Given the description of an element on the screen output the (x, y) to click on. 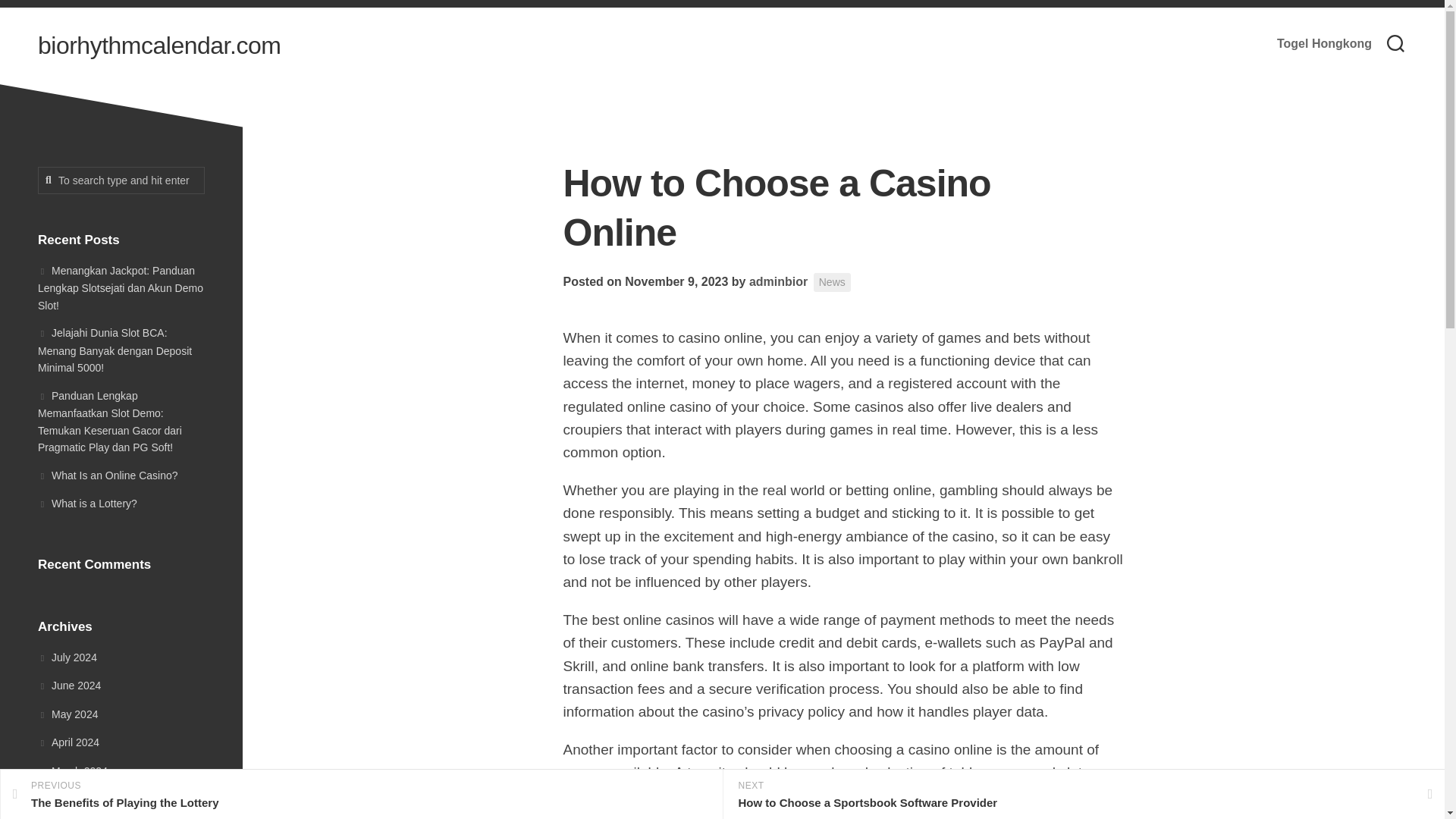
To search type and hit enter (121, 180)
To search type and hit enter (121, 180)
What Is an Online Casino? (107, 474)
July 2024 (67, 656)
February 2024 (361, 794)
Posts by adminbior (78, 799)
May 2024 (778, 281)
News (67, 714)
adminbior (831, 281)
Togel Hongkong (778, 281)
March 2024 (1323, 43)
